Given the description of an element on the screen output the (x, y) to click on. 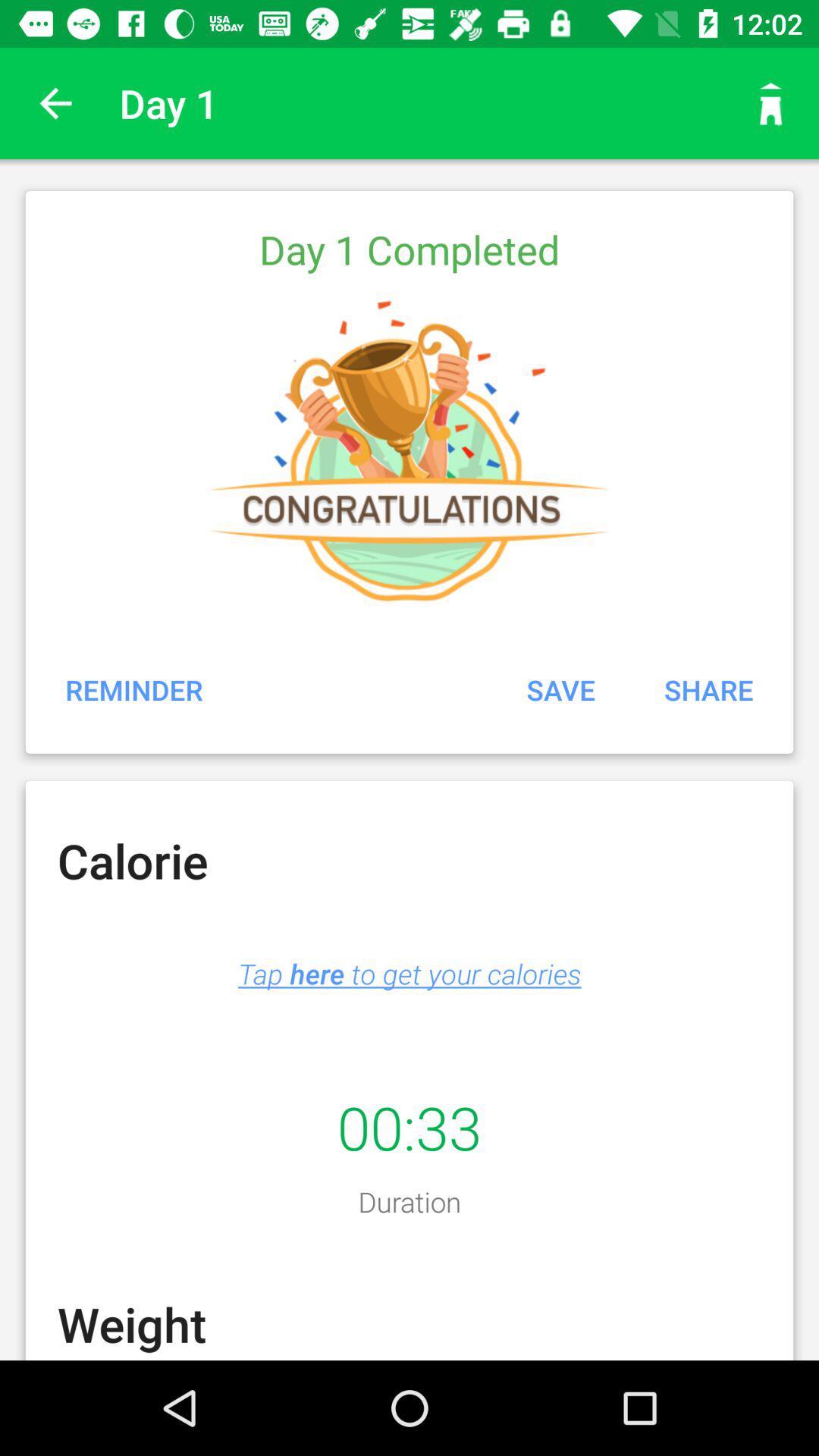
turn on icon next to day 1 app (771, 103)
